Given the description of an element on the screen output the (x, y) to click on. 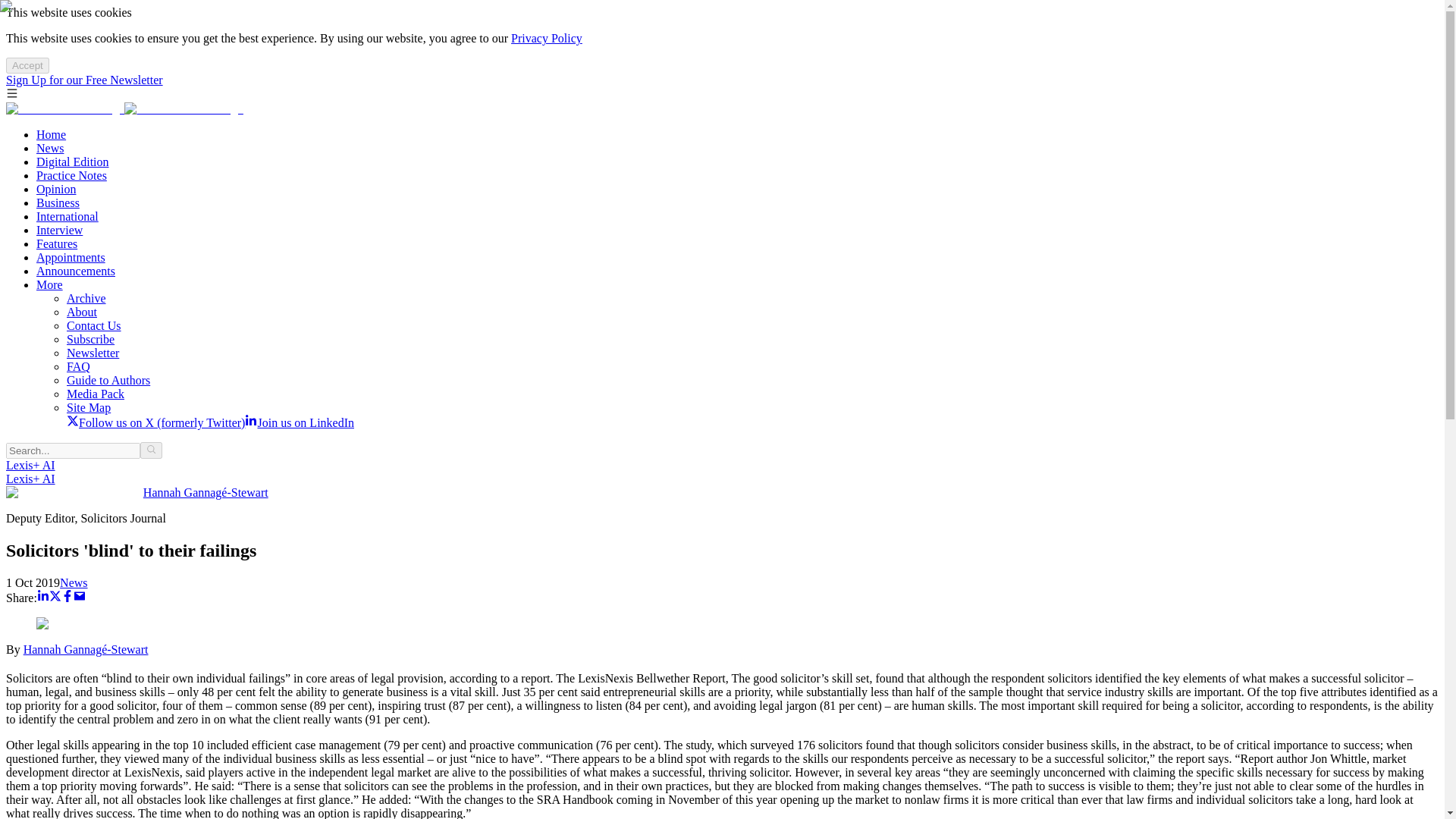
Announcements (75, 270)
Archive (86, 297)
Sign Up for our Free Newsletter (84, 79)
Join us on LinkedIn (298, 422)
Subscribe (90, 338)
Guide to Authors (107, 379)
Practice Notes (71, 174)
Privacy Policy (546, 38)
Interview (59, 229)
Opinion (55, 188)
News (50, 147)
About (81, 311)
Features (56, 243)
News (73, 582)
Digital Edition (72, 161)
